Given the description of an element on the screen output the (x, y) to click on. 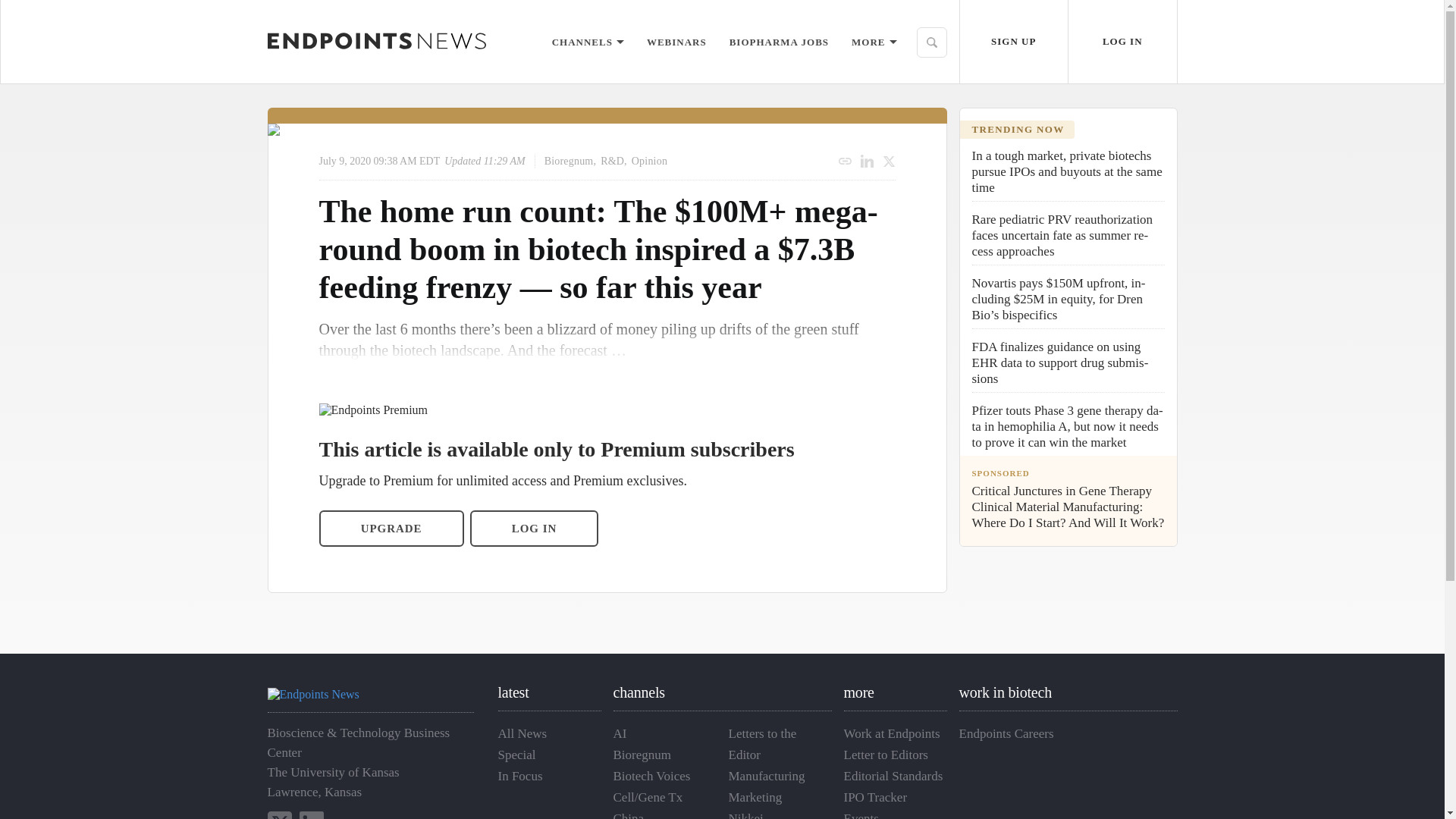
BIOPHARMA JOBS (778, 41)
WEBINARS (676, 41)
